Given the description of an element on the screen output the (x, y) to click on. 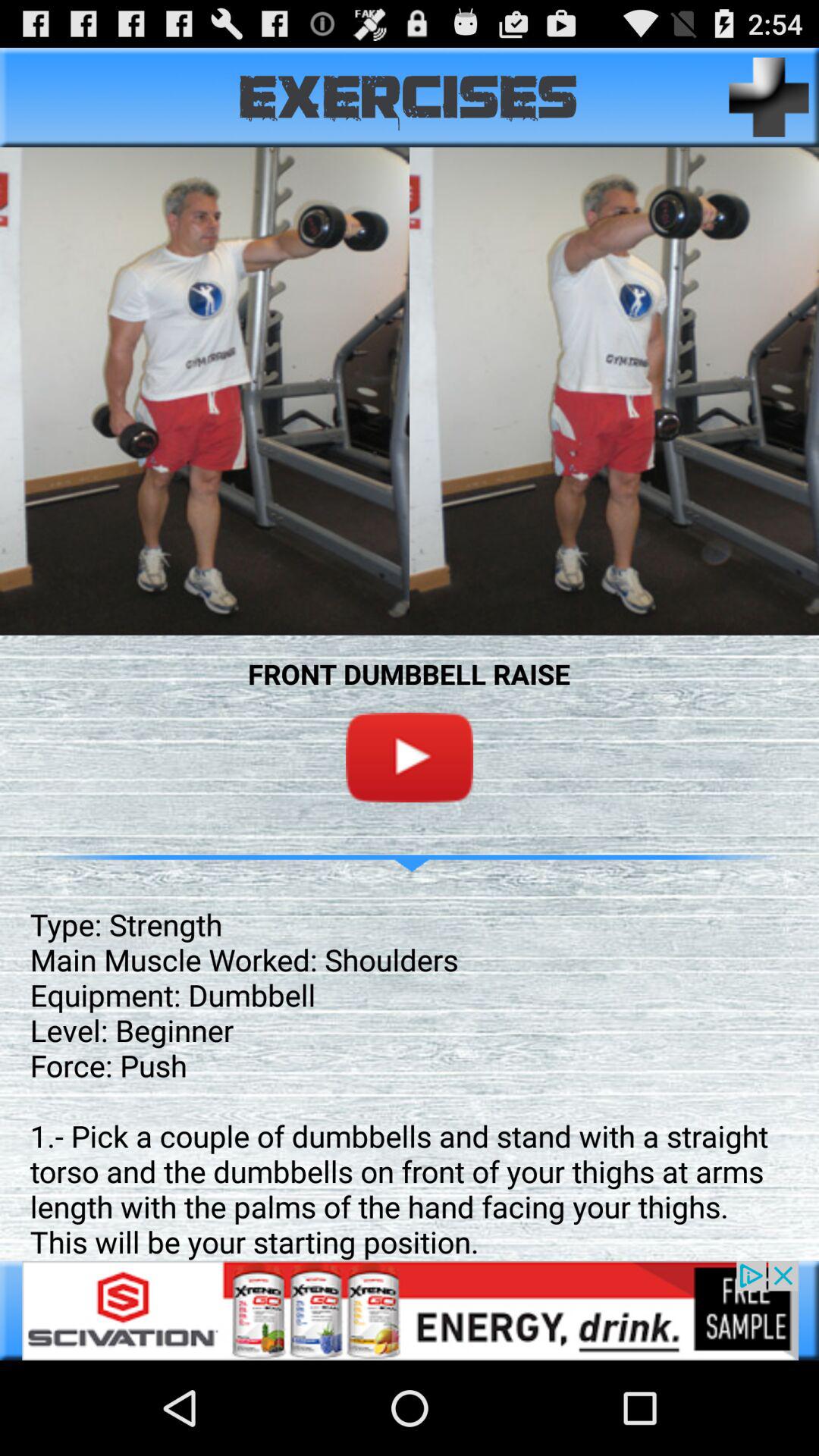
play (409, 757)
